Given the description of an element on the screen output the (x, y) to click on. 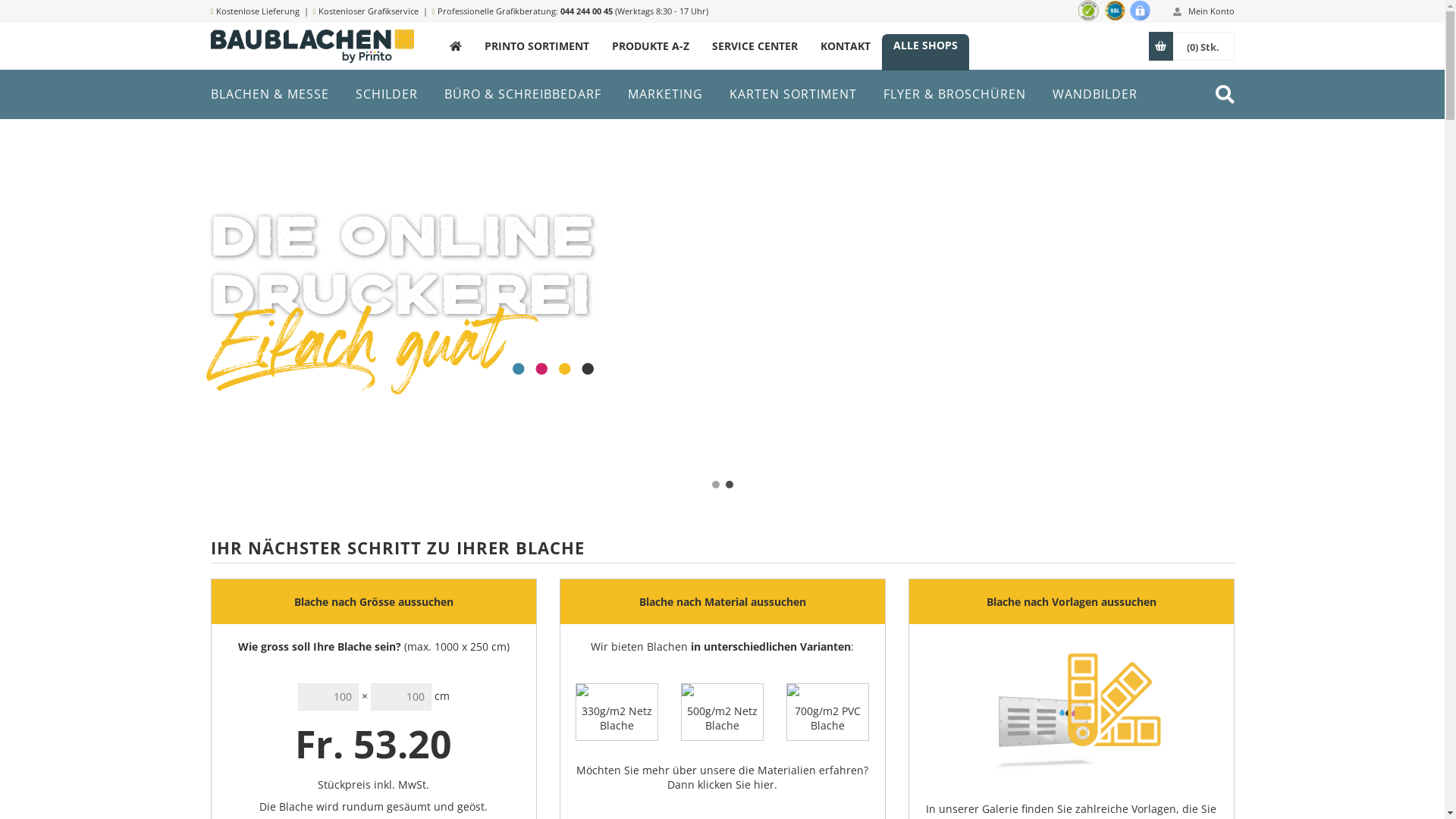
500g/m2 Netz Blache Element type: text (721, 711)
ALLE SHOPS Element type: text (924, 45)
KARTEN SORTIMENT Element type: text (792, 93)
2 Element type: text (728, 484)
PRODUKTE A-Z Element type: text (650, 45)
SCHILDER Element type: text (385, 93)
(0) Stk. Element type: text (1203, 45)
1 Element type: text (714, 484)
WANDBILDER Element type: text (1094, 93)
BLACHEN & MESSE Element type: text (269, 93)
_ Element type: hover (455, 45)
044 244 00 45 Element type: text (586, 10)
700g/m2 PVC Blache Element type: text (827, 711)
MARKETING Element type: text (664, 93)
330g/m2 Netz Blache Element type: text (615, 711)
SERVICE CENTER Element type: text (754, 45)
PRINTO SORTIMENT Element type: text (536, 45)
KONTAKT Element type: text (844, 45)
